Given the description of an element on the screen output the (x, y) to click on. 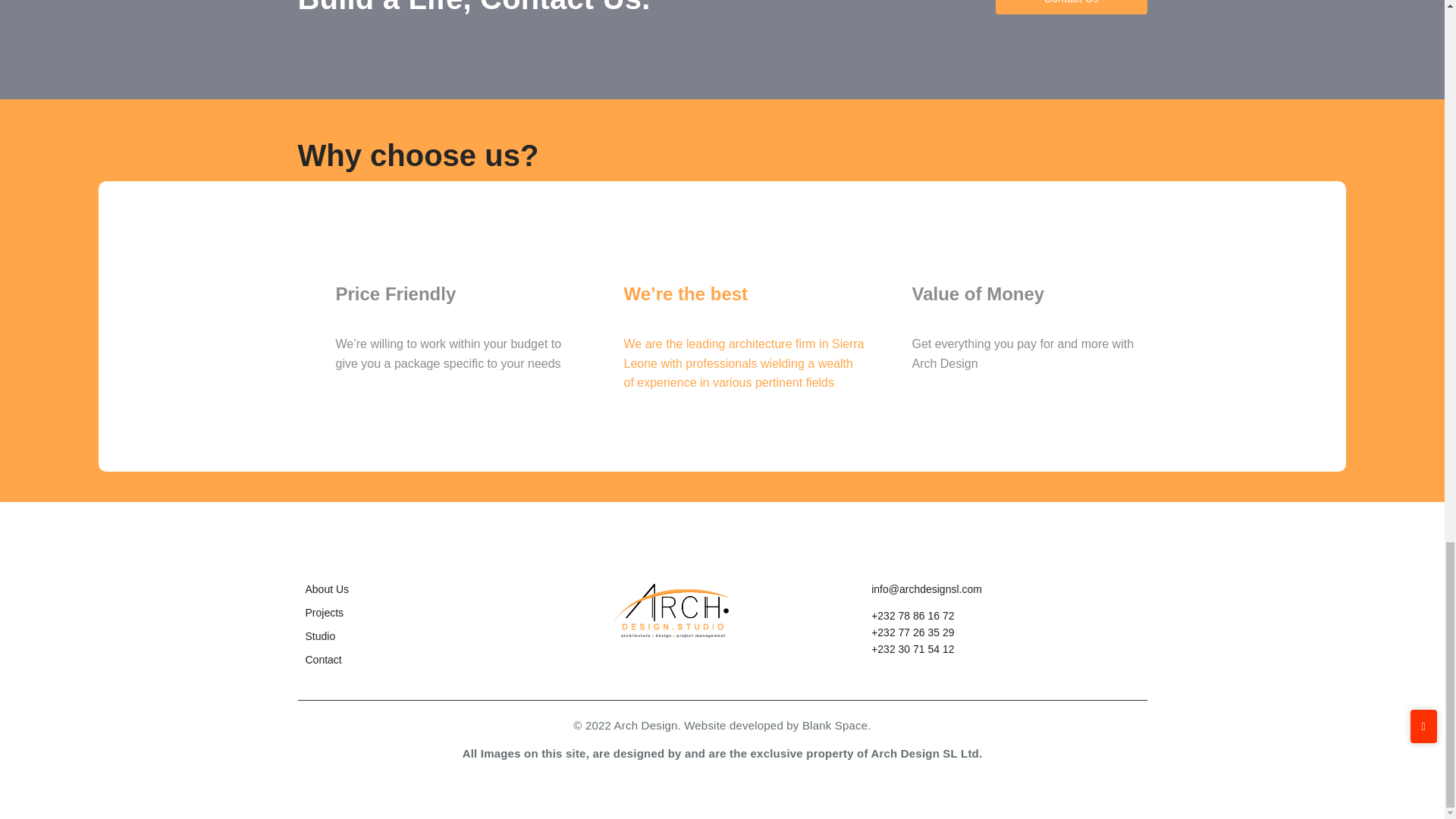
Contact (322, 659)
Projects (323, 612)
Studio (319, 635)
Contact Us (1070, 6)
About Us (326, 589)
